Given the description of an element on the screen output the (x, y) to click on. 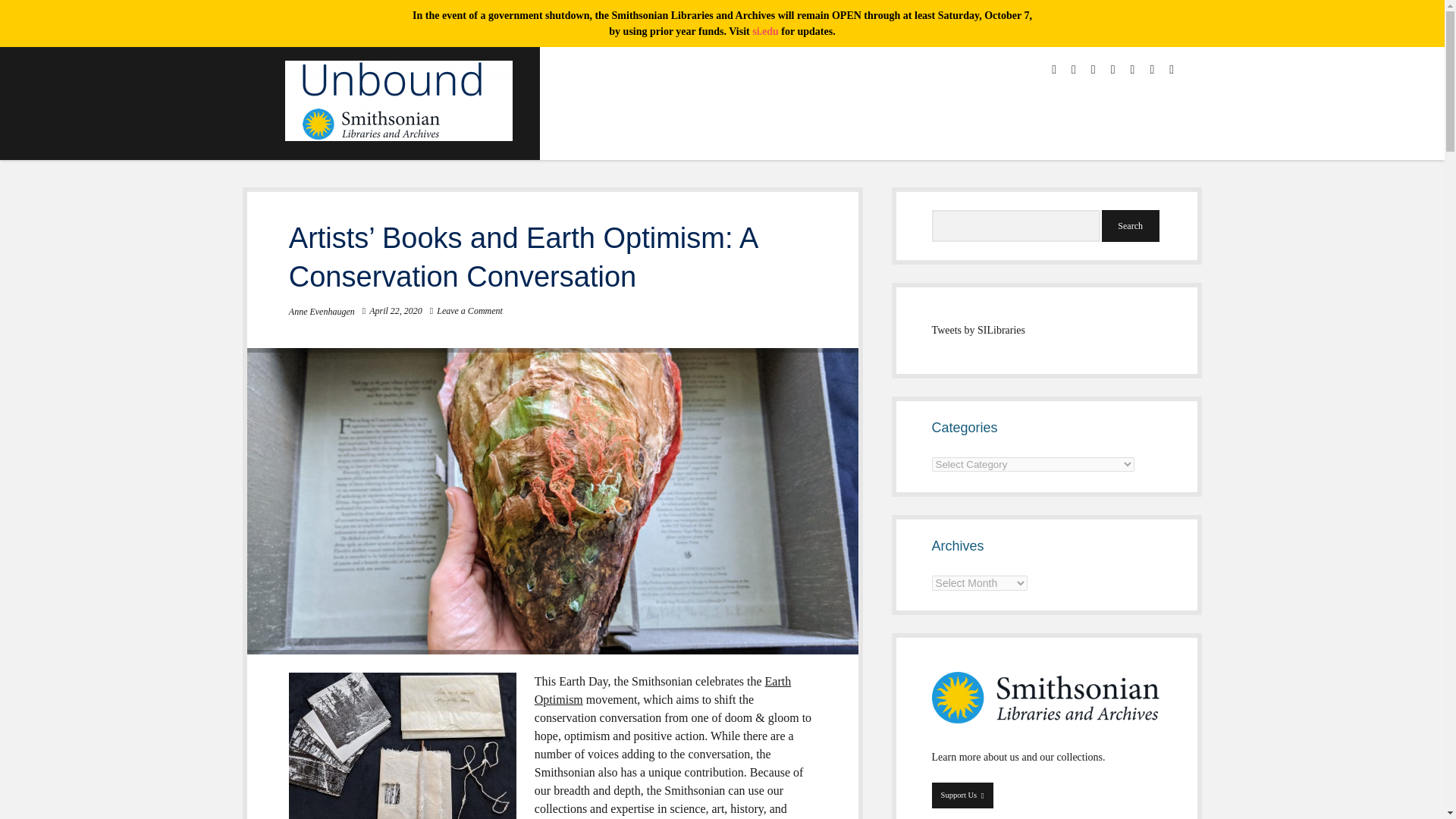
facebook (1073, 69)
rss (1133, 69)
Leave a Comment (469, 310)
Earth Optimism (662, 689)
youtube (1112, 69)
si.edu (765, 30)
flickr (1152, 69)
instagram (1093, 69)
facebook (1073, 69)
tumblr (1171, 69)
Search (1130, 225)
youtube (1112, 69)
twitter (1054, 69)
Anne Evenhaugen (321, 311)
flickr (1152, 69)
